Given the description of an element on the screen output the (x, y) to click on. 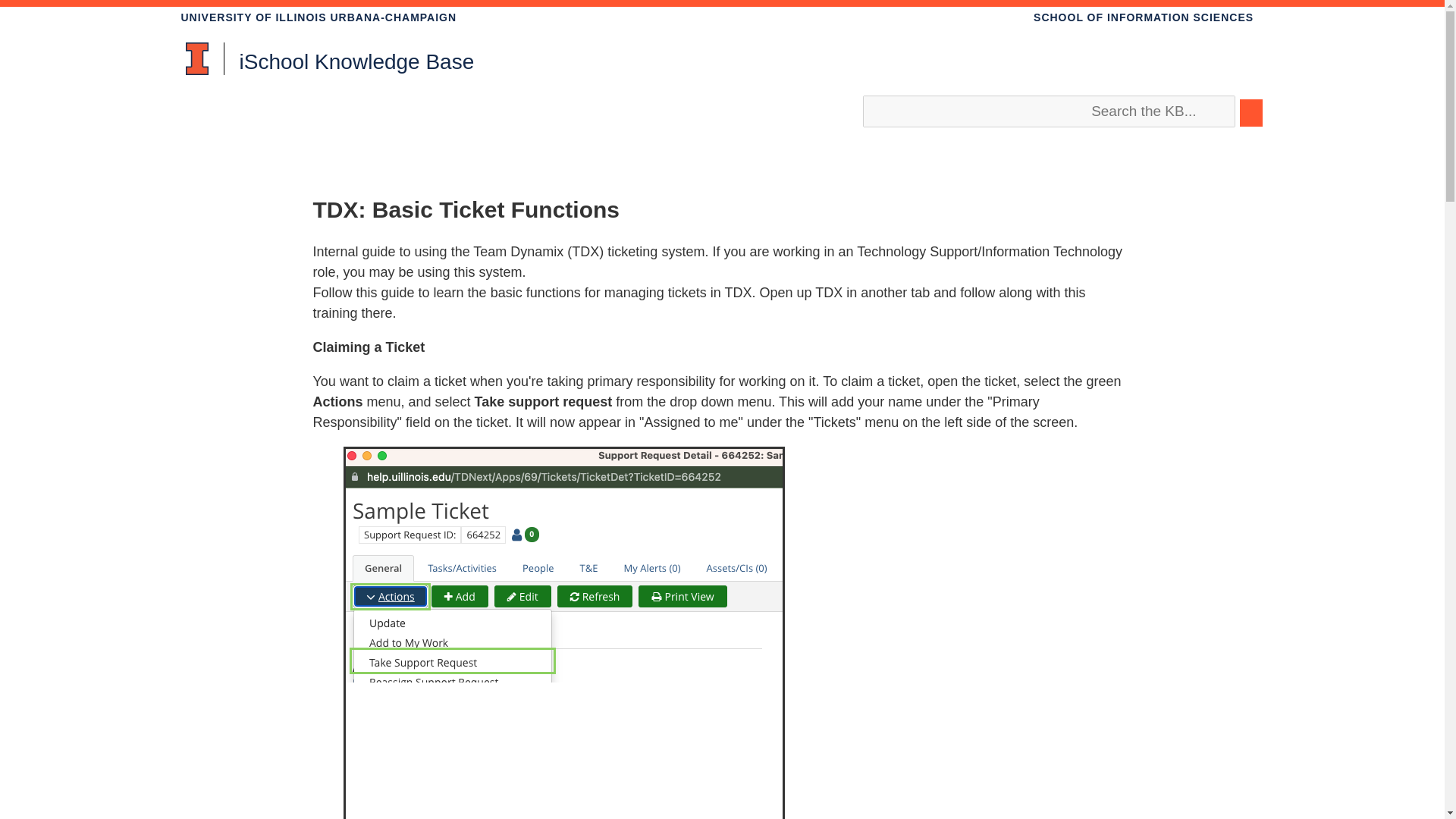
Search (722, 101)
SCHOOL OF INFORMATION SCIENCES (1143, 17)
UNIVERSITY OF ILLINOIS URBANA-CHAMPAIGN (318, 17)
iSchool Knowledge Base (329, 64)
